Given the description of an element on the screen output the (x, y) to click on. 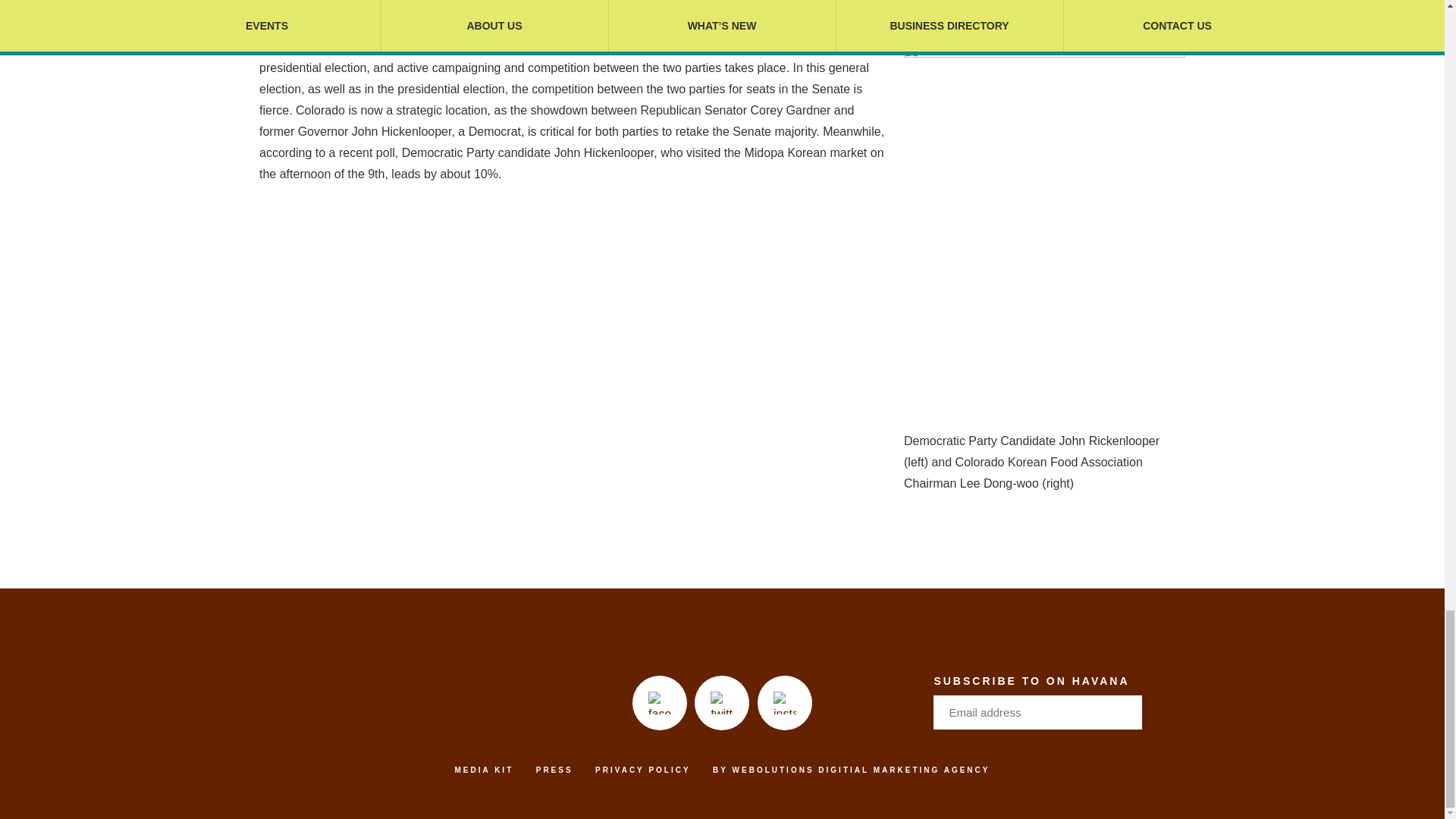
BY WEBOLUTIONS DIGITIAL MARKETING AGENCY (851, 769)
Next (1123, 712)
PRESS (554, 769)
PRIVACY POLICY (642, 769)
MEDIA KIT (483, 769)
